Given the description of an element on the screen output the (x, y) to click on. 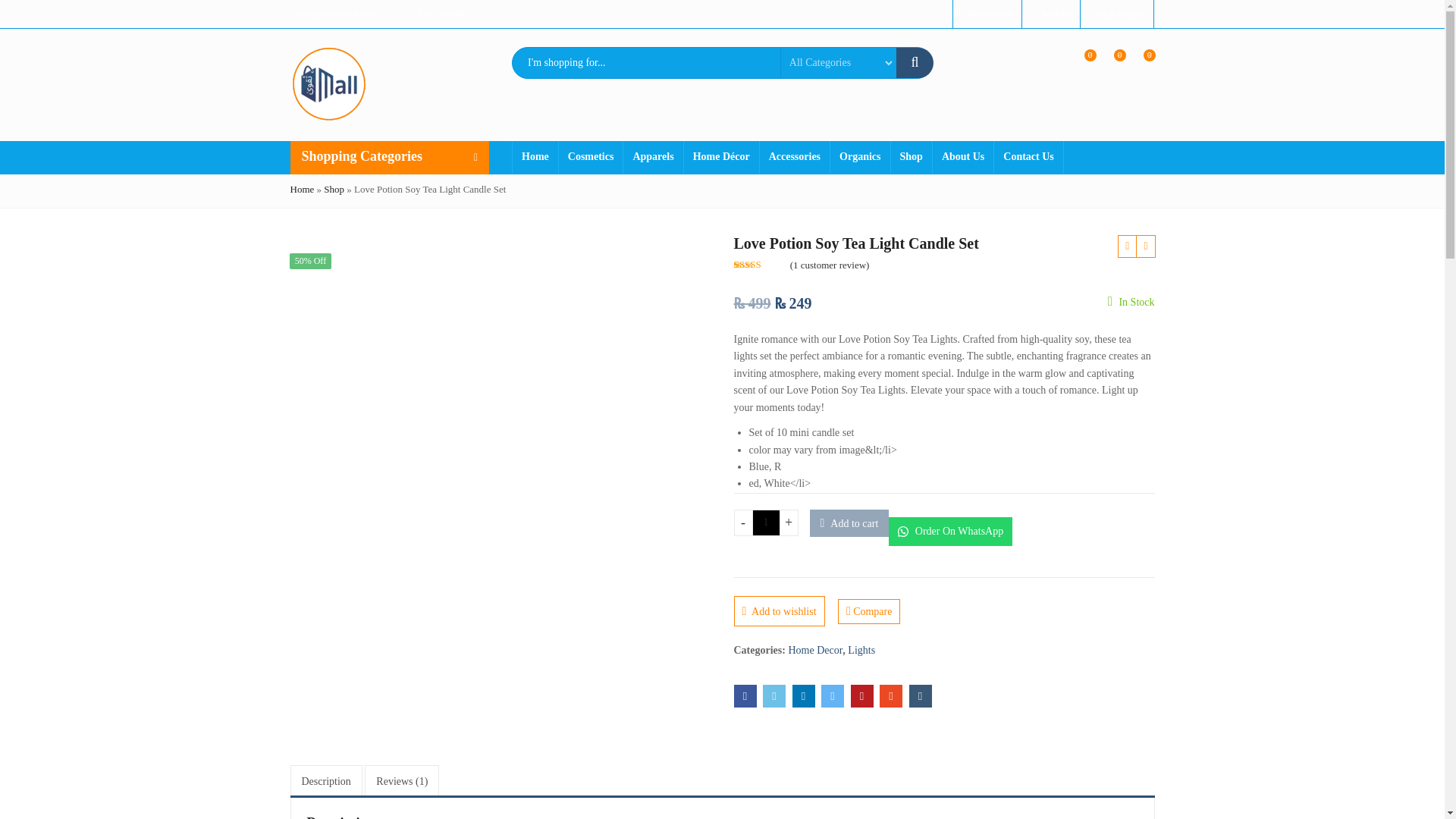
Home (534, 156)
My Account (986, 13)
Qty (765, 522)
Checkout (1049, 13)
Cosmetics (591, 156)
Share on LinkedIn (802, 695)
Share on Facebook (745, 695)
1 (765, 522)
Share on Twitter (774, 695)
Share on Stumbleupon (890, 695)
